Given the description of an element on the screen output the (x, y) to click on. 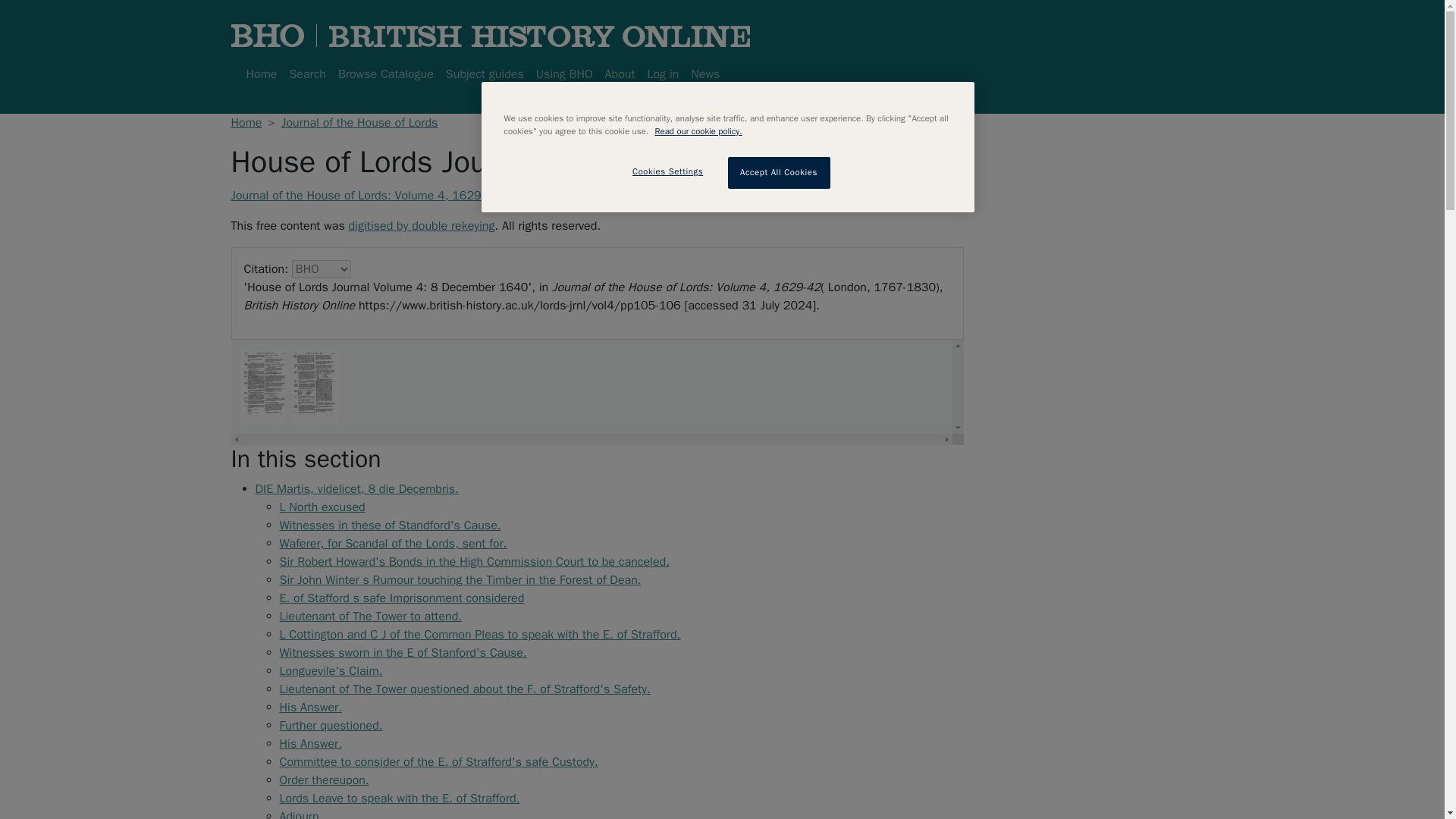
Committee to consider of the E. of Strafford's safe Custody. (437, 761)
Lords Leave to speak with the E. of Strafford. (399, 798)
Home (261, 73)
Order thereupon. (323, 780)
His Answer. (309, 707)
Waferer, for Scandal of the Lords, sent for. (392, 543)
News (704, 73)
Search (306, 73)
Further questioned. (330, 725)
His Answer. (309, 743)
About (620, 73)
Browse Catalogue (385, 73)
Longuevile's Claim. (330, 670)
